Given the description of an element on the screen output the (x, y) to click on. 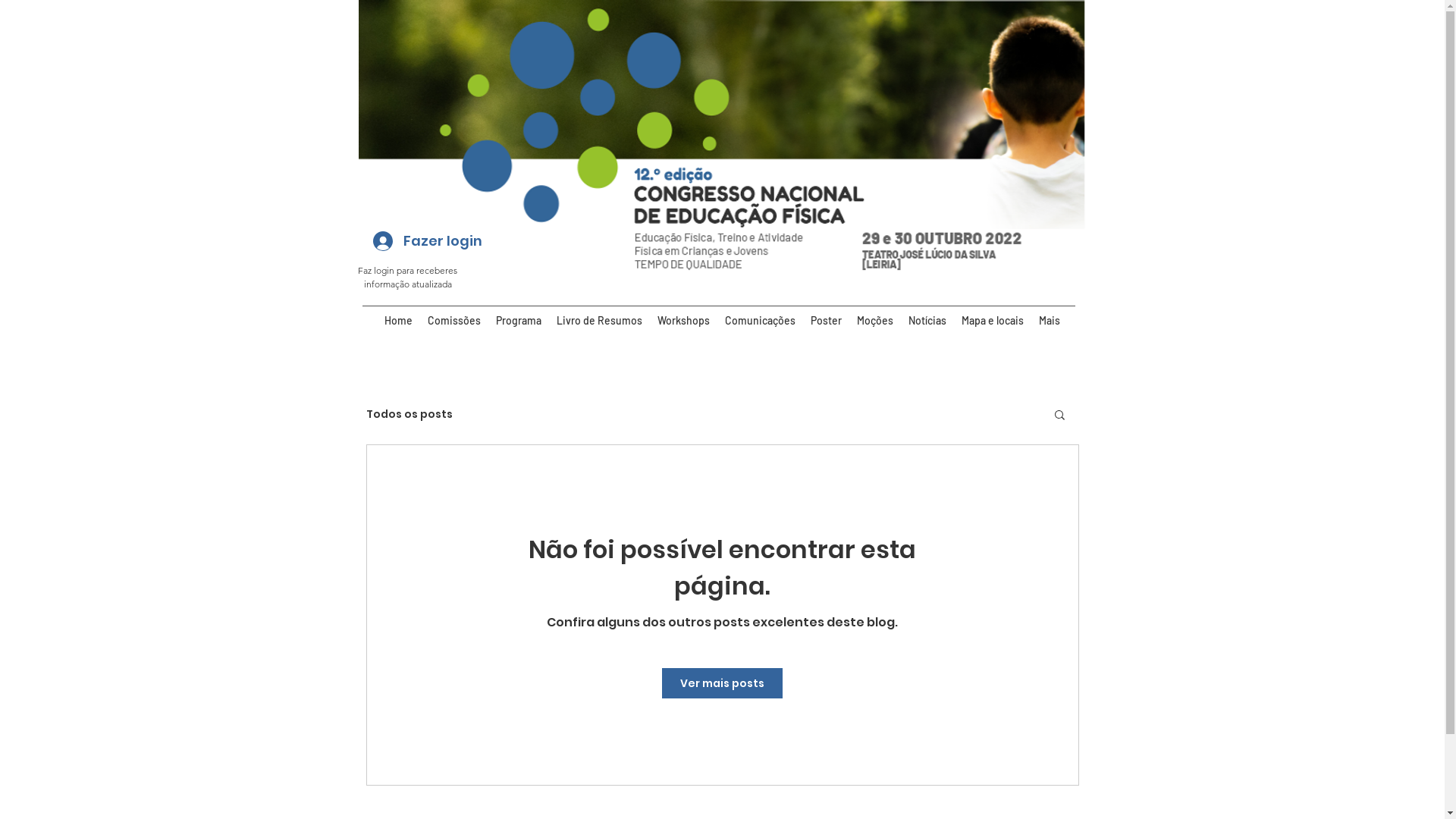
Poster Element type: text (826, 320)
Todos os posts Element type: text (408, 414)
Workshops Element type: text (683, 320)
Fazer login Element type: text (407, 240)
Mapa e locais Element type: text (992, 320)
TWIPLA (Visitor Analytics) Element type: hover (1243, 179)
Programa Element type: text (518, 320)
Home Element type: text (398, 320)
Livro de Resumos Element type: text (599, 320)
Ver mais posts Element type: text (722, 683)
TWIPLA (Visitor Analytics) Element type: hover (1442, 4)
